Given the description of an element on the screen output the (x, y) to click on. 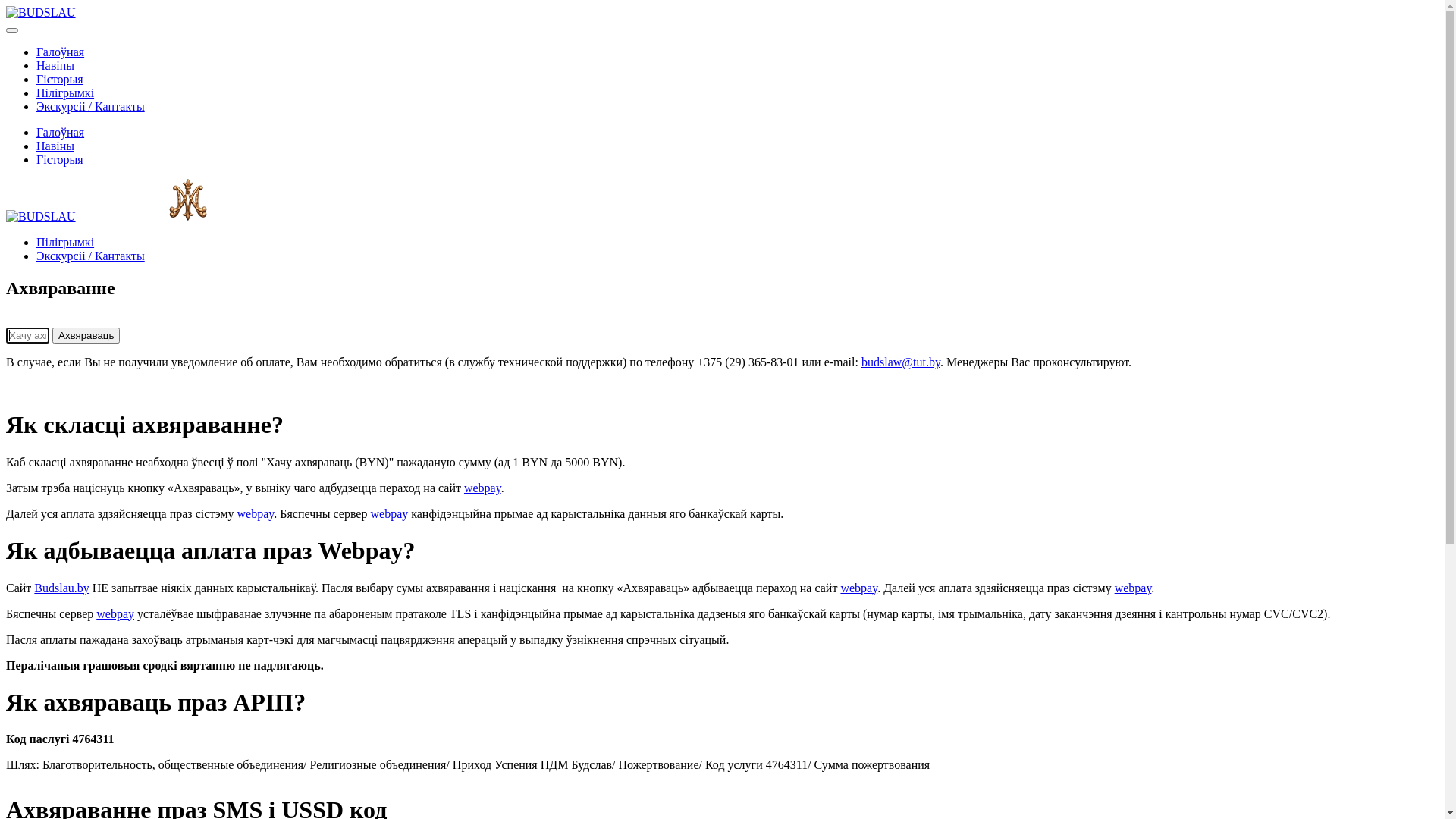
Budslau.by Element type: text (61, 587)
webpay Element type: text (255, 513)
budslaw@tut.by Element type: text (900, 361)
webpay Element type: text (1132, 587)
webpay Element type: text (858, 587)
webpay Element type: text (388, 513)
webpay Element type: text (115, 613)
webpay Element type: text (482, 487)
